Given the description of an element on the screen output the (x, y) to click on. 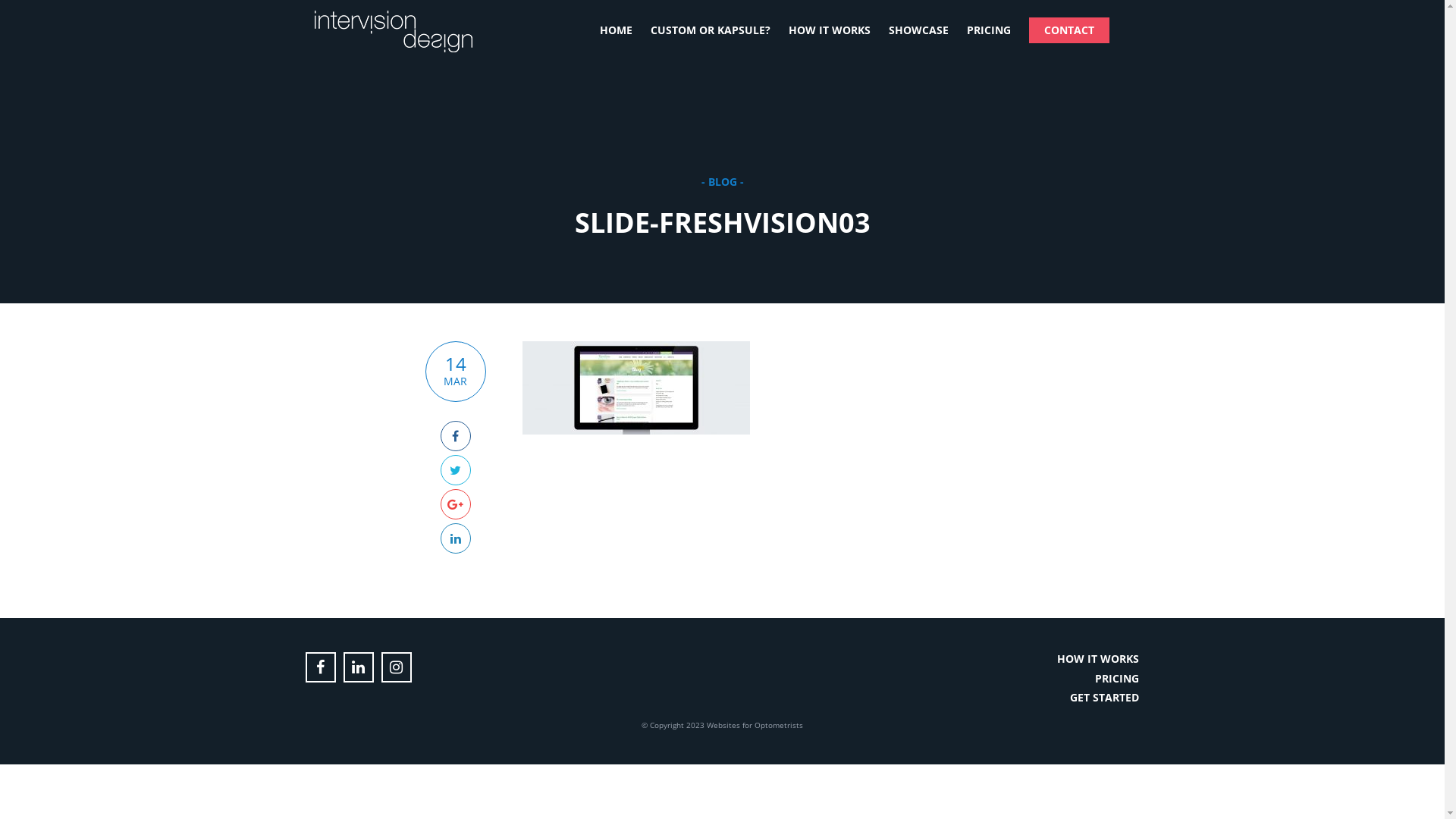
CONTACT Element type: text (1068, 30)
HOW IT WORKS Element type: text (829, 30)
PRICING Element type: text (987, 30)
CUSTOM OR KAPSULE? Element type: text (710, 30)
PRICING Element type: text (1117, 677)
HOME Element type: text (615, 30)
GET STARTED Element type: text (1104, 697)
SHOWCASE Element type: text (918, 30)
HOW IT WORKS Element type: text (1098, 658)
